Given the description of an element on the screen output the (x, y) to click on. 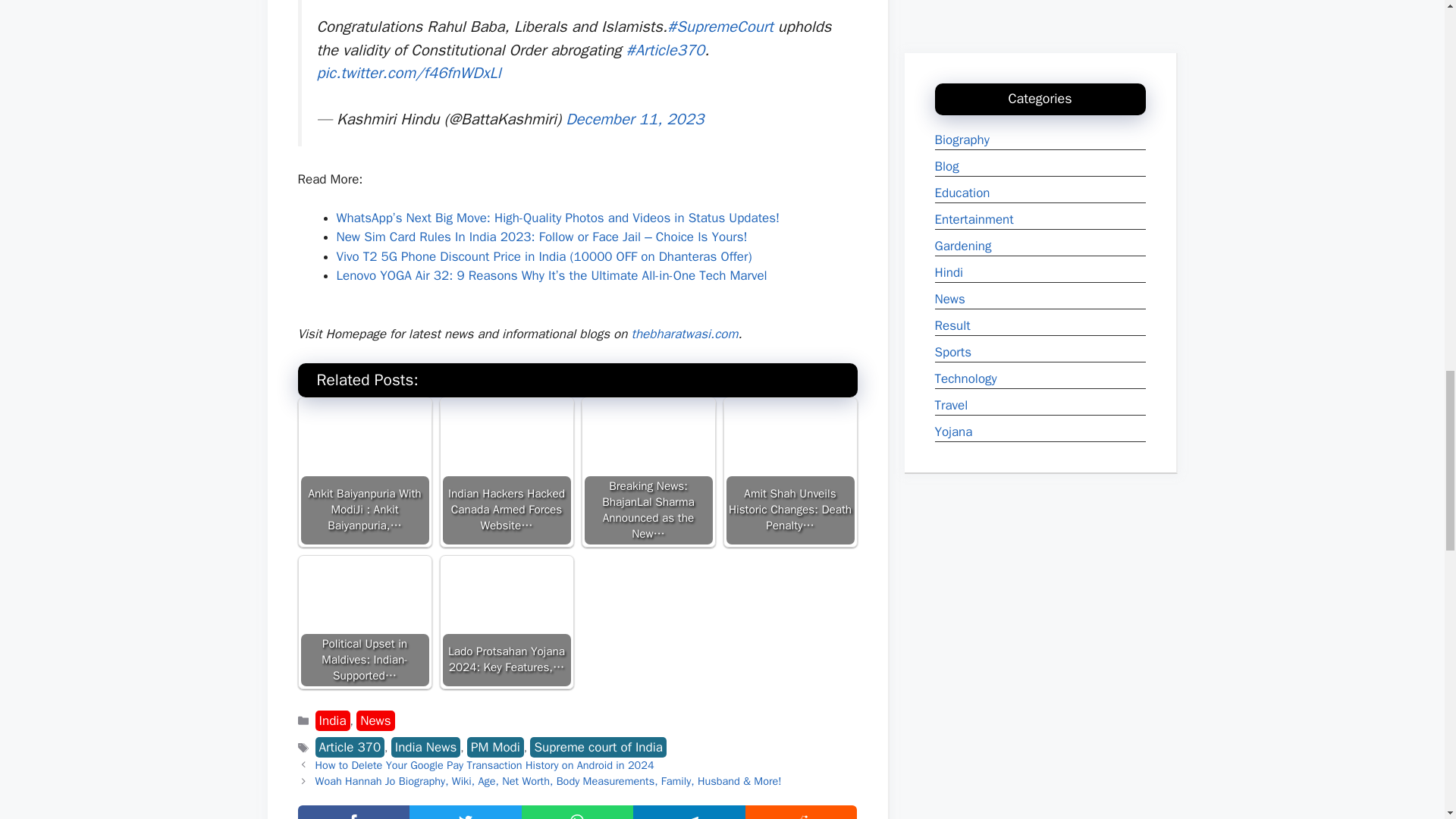
thebharatwasi.com (684, 333)
December 11, 2023 (634, 118)
